Given the description of an element on the screen output the (x, y) to click on. 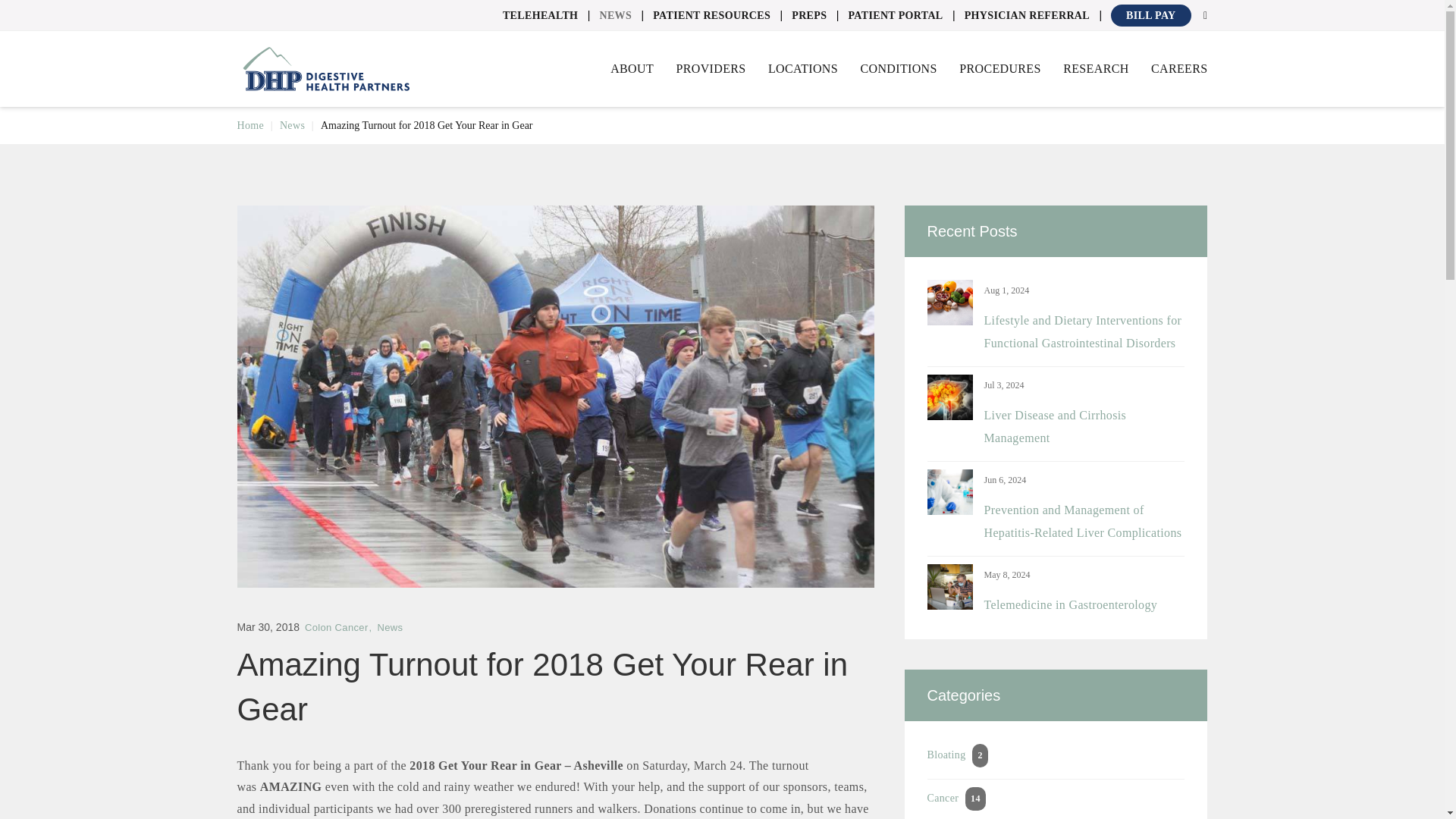
TeleHealth (540, 15)
News (291, 125)
News (614, 15)
PHYSICIAN REFERRAL (1026, 15)
BILL PAY (1150, 15)
LOCATIONS (803, 69)
PROVIDERS (710, 69)
PROCEDURES (1000, 69)
PATIENT RESOURCES (711, 15)
News (390, 627)
Patient Resources (711, 15)
Physician Referral (1026, 15)
Preps (809, 15)
Colon Cancer (338, 627)
PATIENT PORTAL (894, 15)
